Given the description of an element on the screen output the (x, y) to click on. 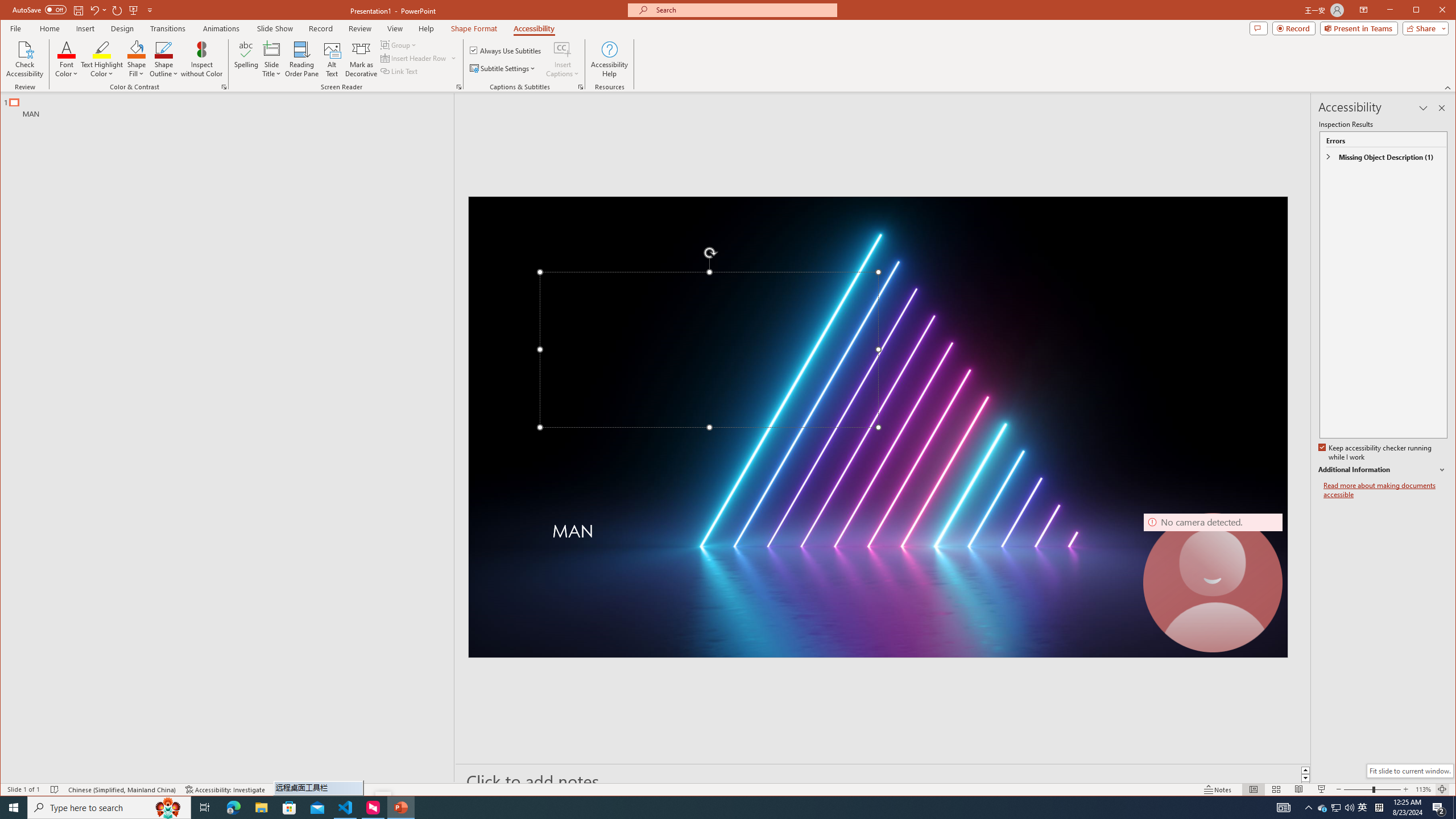
Insert Header Row (418, 57)
Captions & Subtitles (580, 86)
Camera 7, No camera detected. (1213, 582)
Group (399, 44)
